Given the description of an element on the screen output the (x, y) to click on. 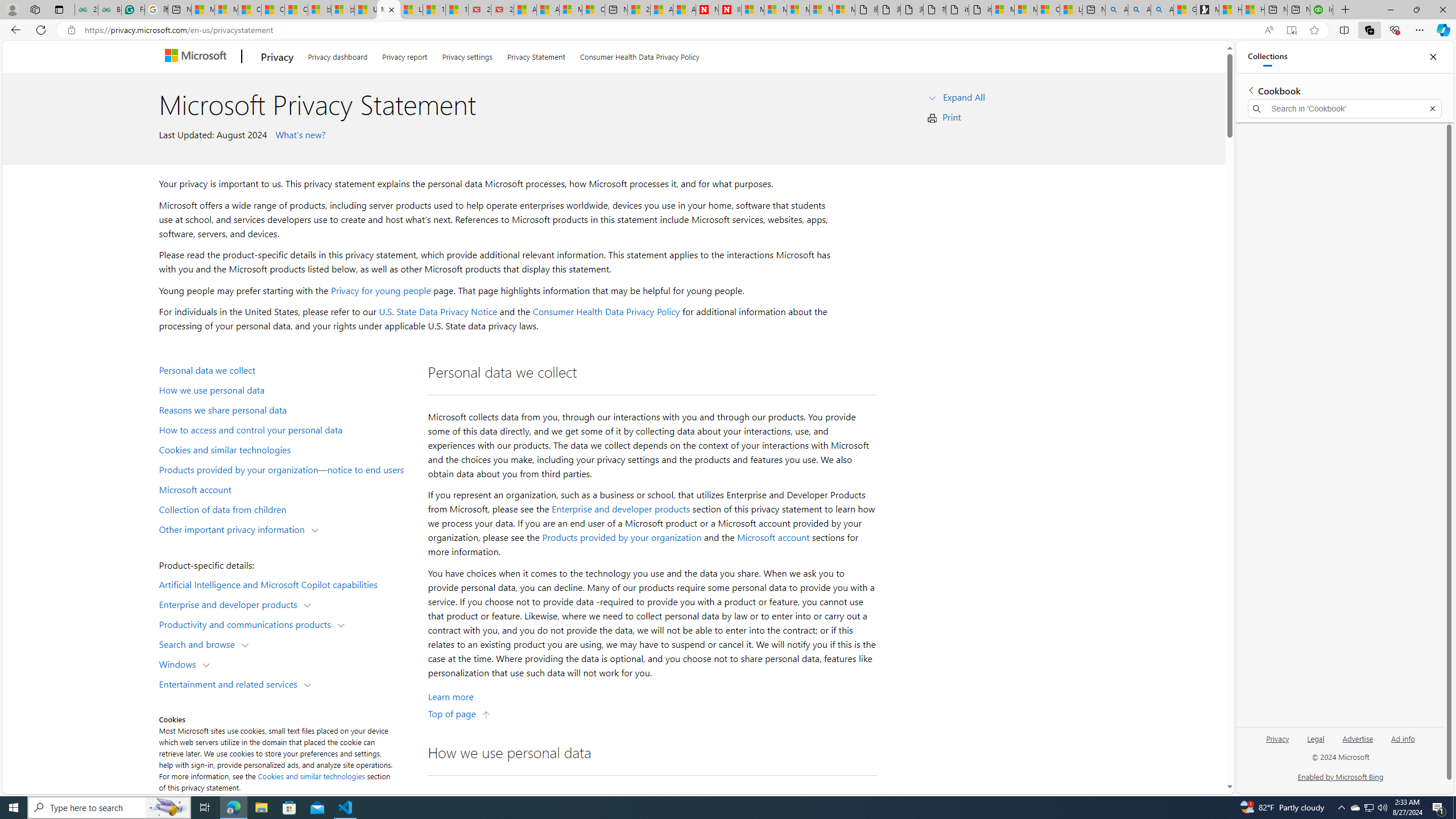
Privacy for young people (380, 290)
How to Use a TV as a Computer Monitor (1253, 9)
Learn More about Personal data we collect (450, 696)
Intuit QuickBooks Online - Quickbooks (1321, 9)
Alabama high school quarterback dies - Search Videos (1161, 9)
20 Ways to Boost Your Protein Intake at Every Meal (639, 9)
Cookies and similar technologies (311, 775)
Microsoft account (772, 537)
